Given the description of an element on the screen output the (x, y) to click on. 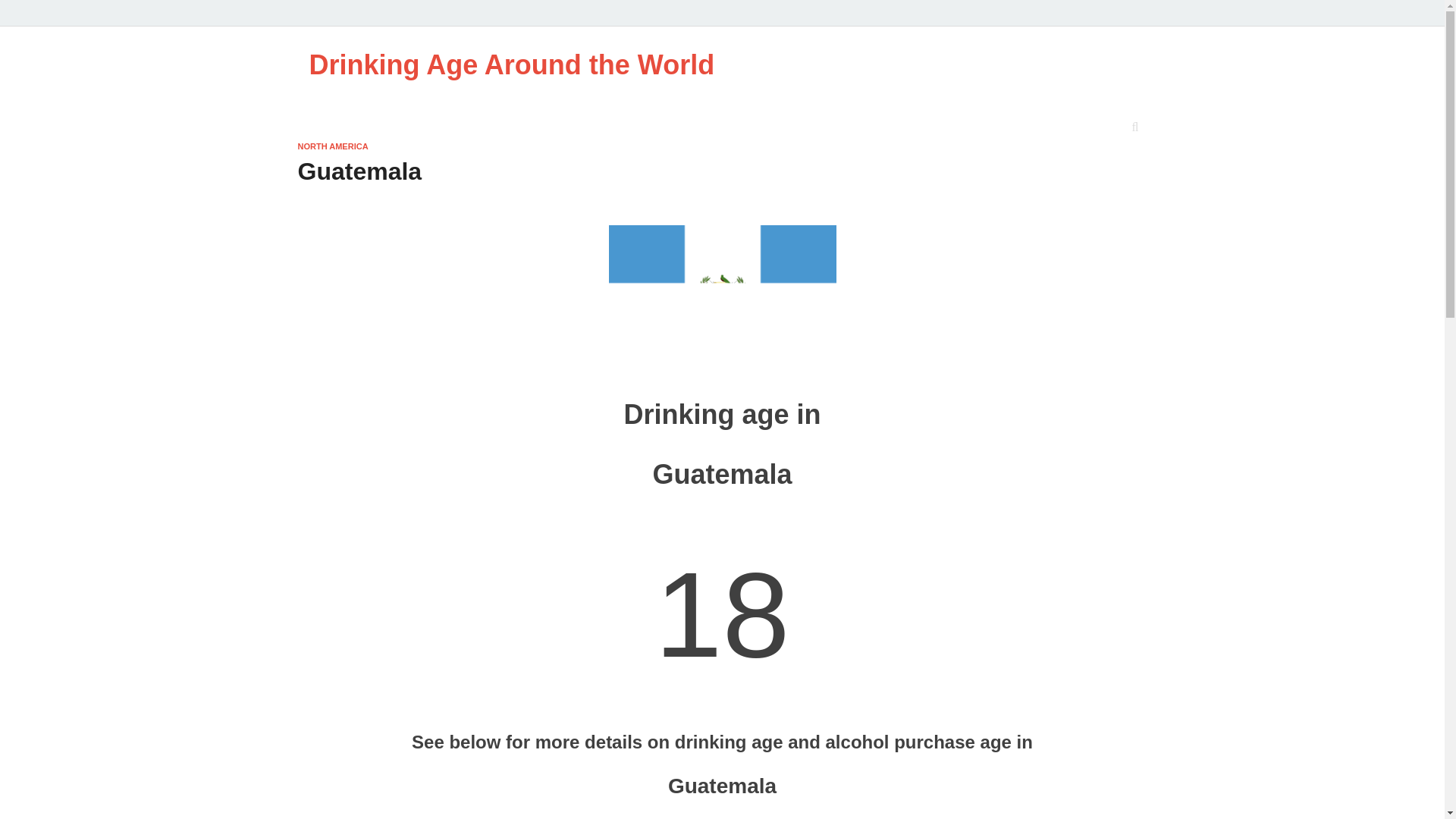
NORTH AMERICA (332, 145)
Drinking Age Around the World (511, 64)
